Given the description of an element on the screen output the (x, y) to click on. 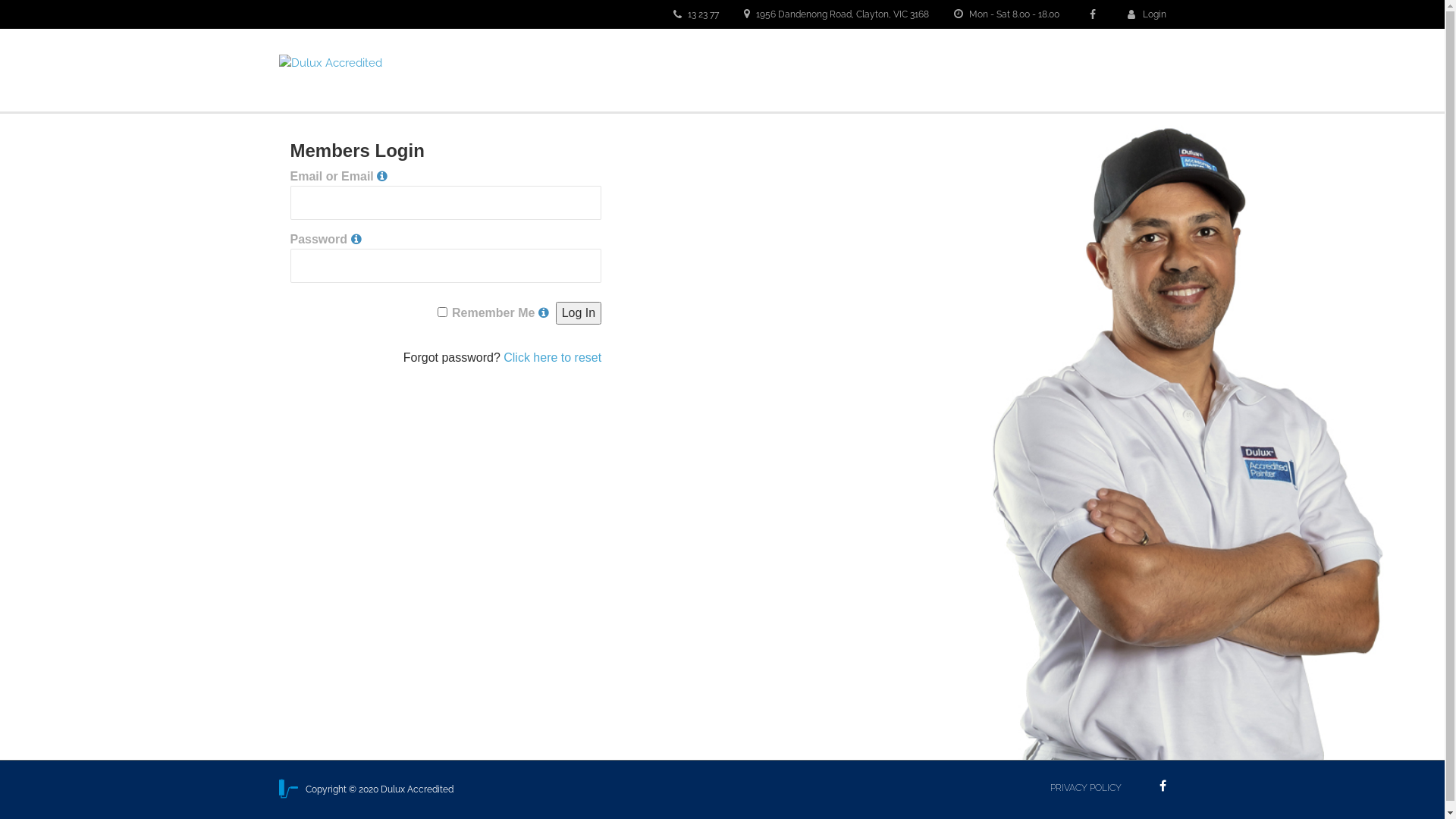
Log In Element type: text (578, 312)
Click here to reset Element type: text (552, 357)
Login Element type: text (1145, 13)
PRIVACY POLICY Element type: text (1084, 787)
